Given the description of an element on the screen output the (x, y) to click on. 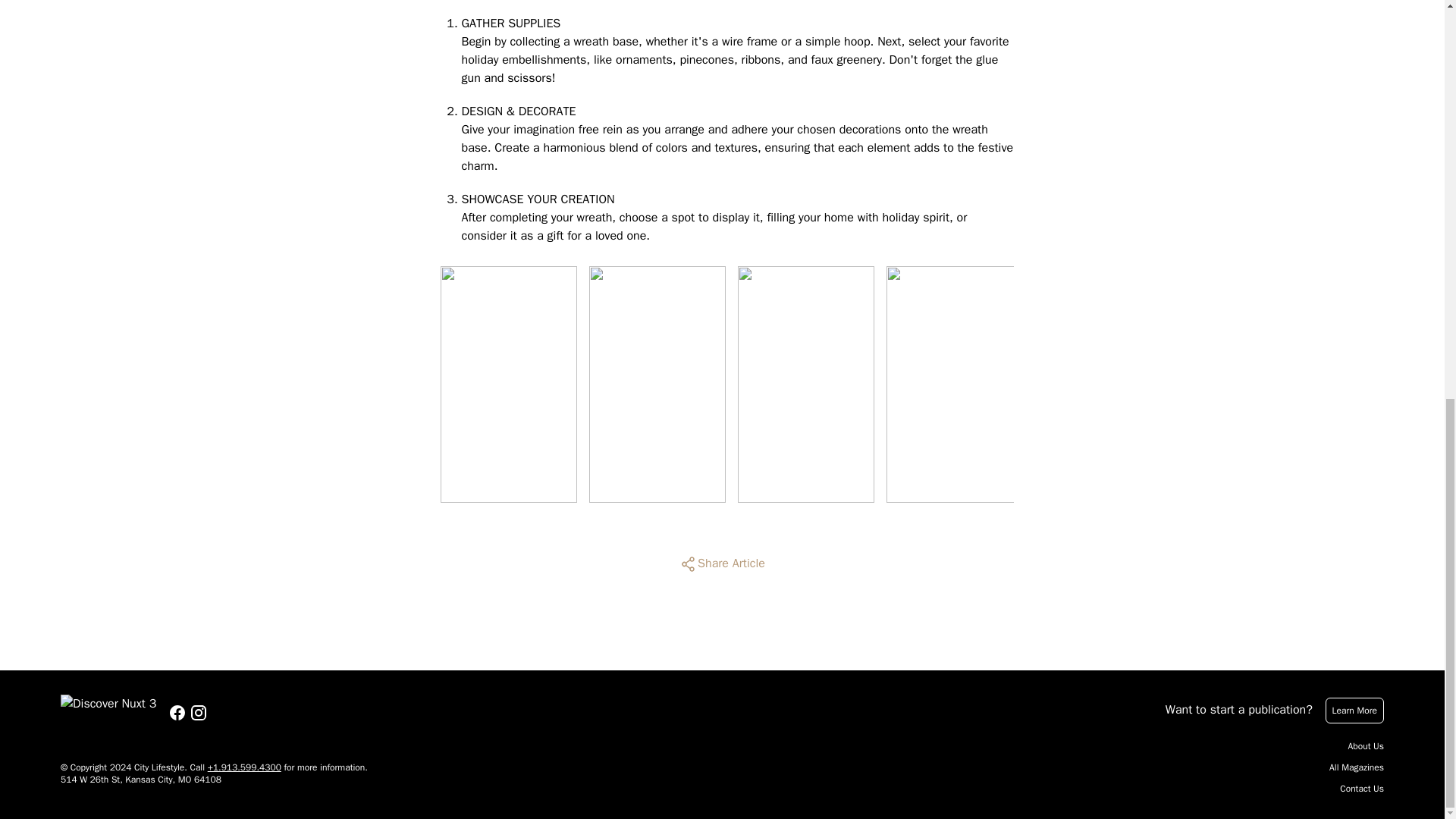
Contact Us (1361, 788)
All Magazines (1356, 767)
Learn More (1354, 710)
Share Article (722, 563)
About Us (1366, 746)
